Given the description of an element on the screen output the (x, y) to click on. 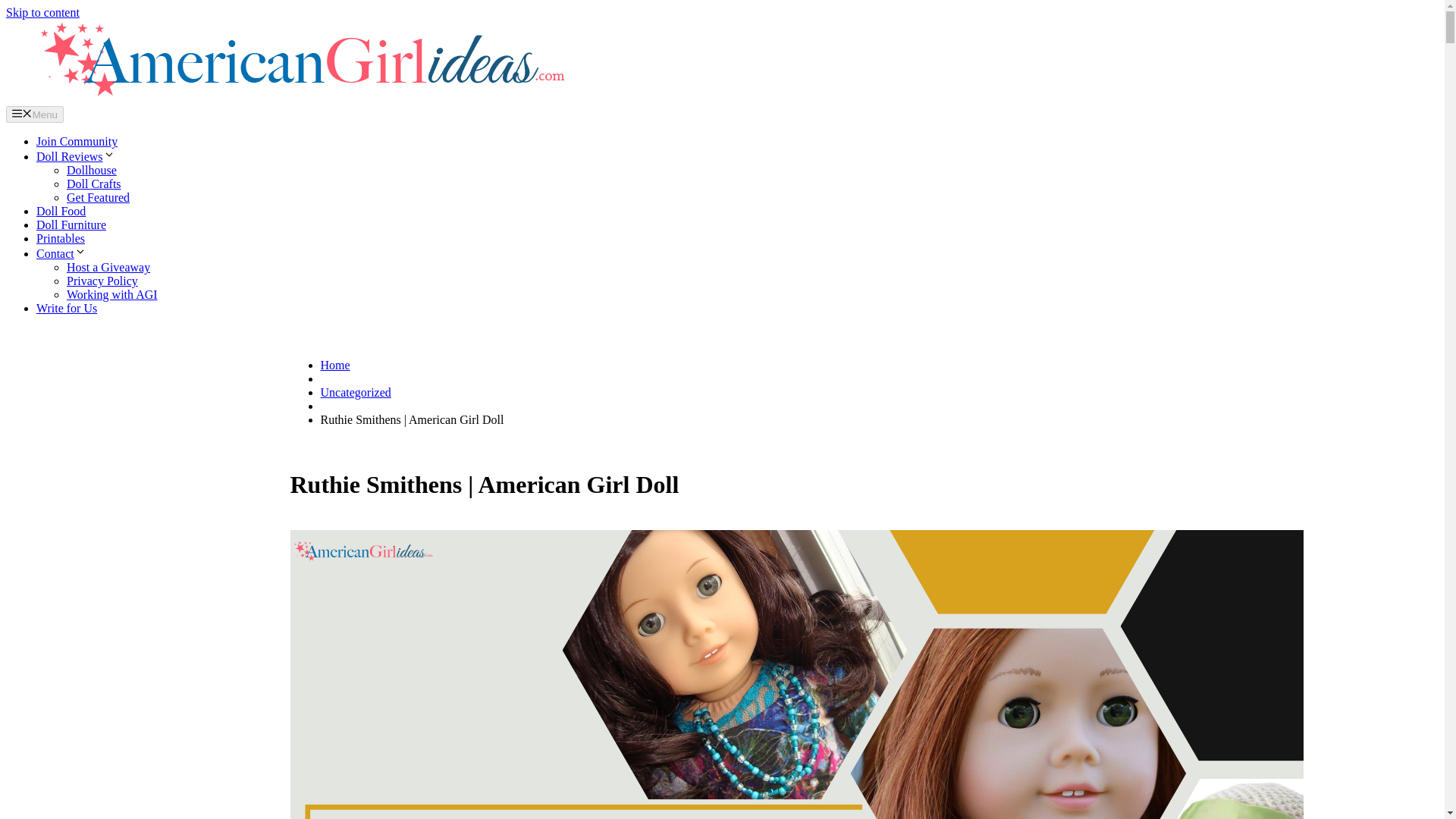
Menu (34, 114)
Join Community (76, 141)
Get Featured (97, 196)
Doll Reviews (75, 155)
Printables (60, 237)
Doll Food (60, 210)
Skip to content (42, 11)
Write for Us (66, 308)
Doll Furniture (71, 224)
Uncategorized (355, 391)
Dollhouse (91, 169)
Contact (60, 253)
Privacy Policy (102, 280)
Working with AGI (111, 294)
Skip to content (42, 11)
